Given the description of an element on the screen output the (x, y) to click on. 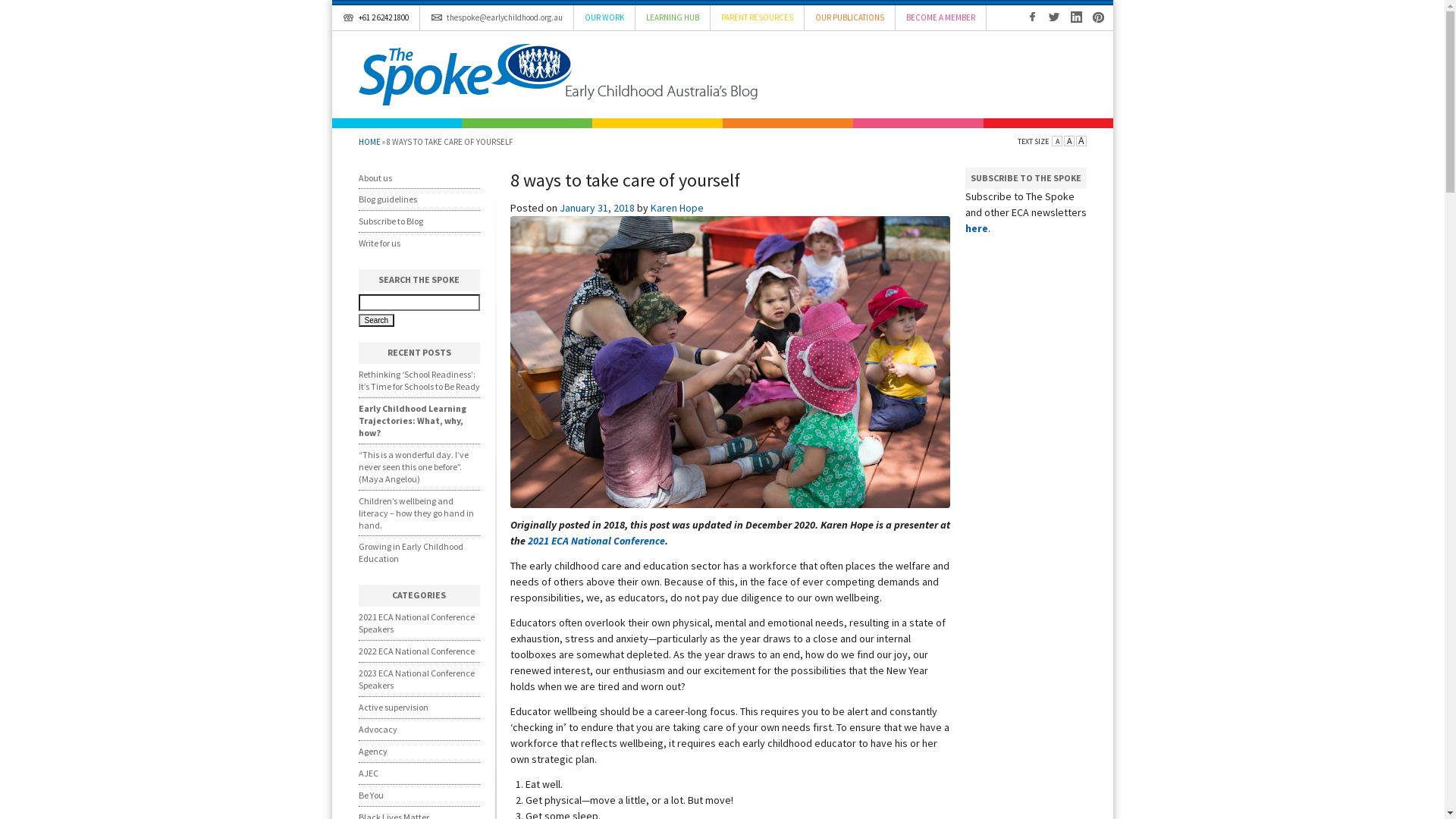
Active supervision Element type: text (392, 706)
Early Childhood Learning Trajectories: What, why, how?  Element type: text (411, 420)
PARENT RESOURCES Element type: text (756, 17)
thespoke@earlychildhood.org.au Element type: text (497, 17)
OUR PUBLICATIONS Element type: text (848, 17)
2023 ECA National Conference Speakers Element type: text (415, 678)
2021 ECA National Conference Element type: text (596, 540)
BECOME A MEMBER Element type: text (939, 17)
2022 ECA National Conference Element type: text (415, 650)
LEARNING HUB Element type: text (672, 17)
Agency Element type: text (371, 750)
Growing in Early Childhood Education Element type: text (409, 552)
2021 ECA National Conference Speakers Element type: text (415, 622)
January 31, 2018 Element type: text (596, 207)
AJEC Element type: text (367, 772)
Search Element type: text (375, 319)
About us Element type: text (374, 176)
Blog guidelines Element type: text (386, 198)
Karen Hope Element type: text (676, 207)
here Element type: text (975, 228)
Write for us Element type: text (378, 242)
Be You Element type: text (369, 794)
HOME Element type: text (368, 141)
Advocacy Element type: text (376, 728)
Subscribe to Blog Element type: text (389, 220)
OUR WORK Element type: text (603, 17)
